Given the description of an element on the screen output the (x, y) to click on. 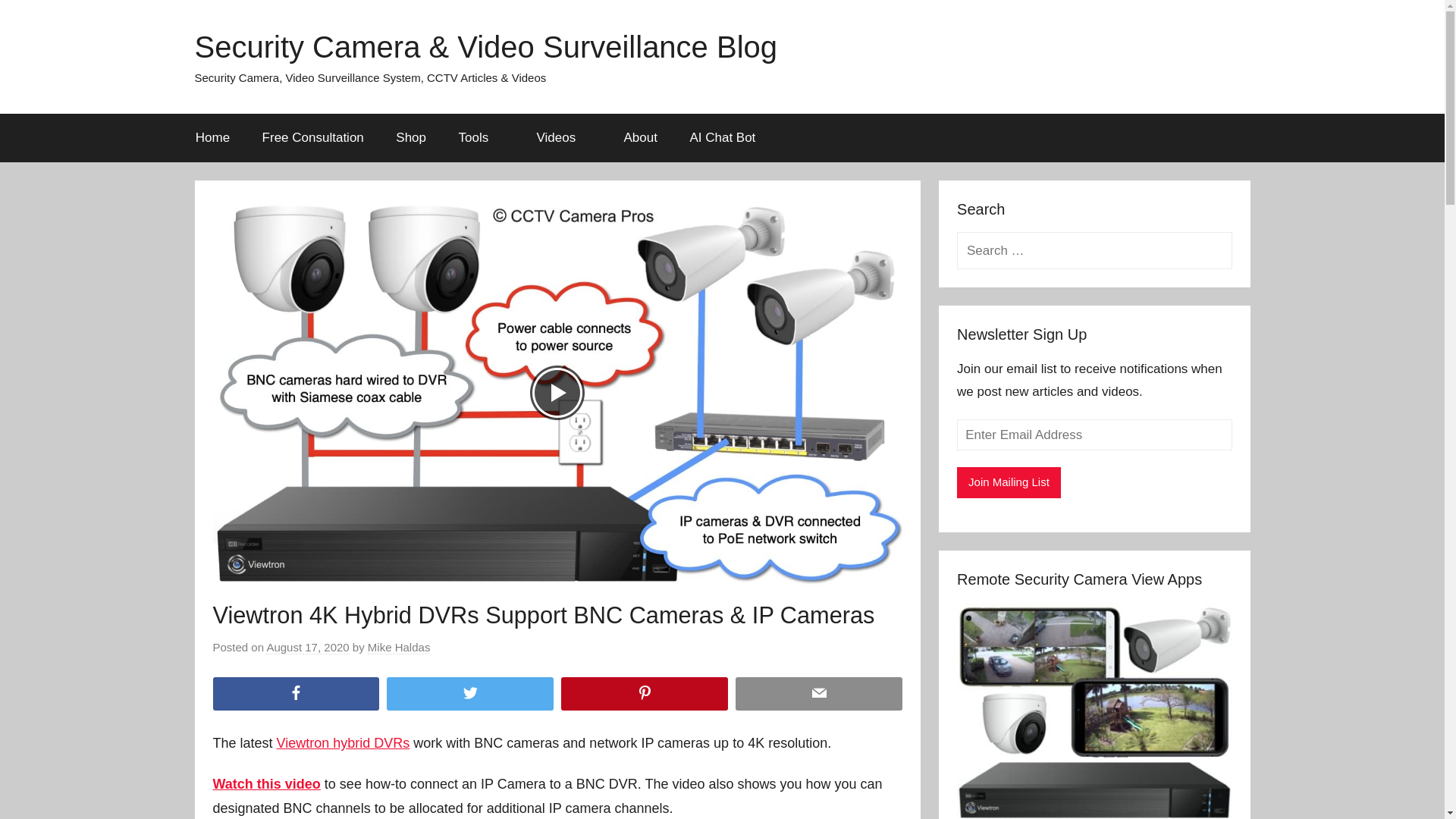
Home (212, 137)
About (639, 137)
Pinterest (644, 694)
AI Chat Bot (721, 137)
Mike Haldas (399, 647)
Twitter (470, 694)
Viewtron hybrid DVRs (343, 743)
Videos (563, 137)
Shop (411, 137)
Email (818, 694)
